Given the description of an element on the screen output the (x, y) to click on. 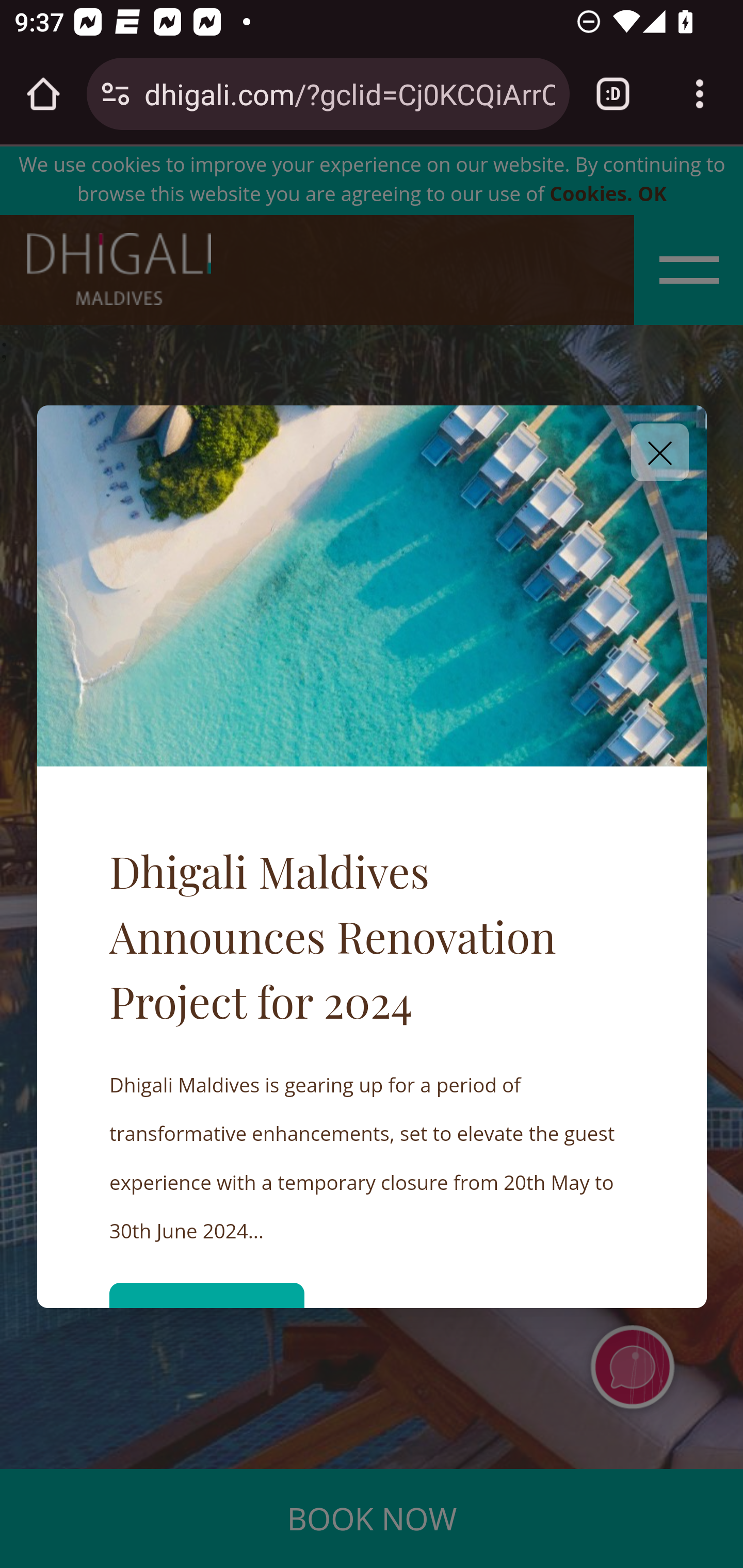
Open the home page (43, 93)
Connection is secure (115, 93)
Switch or close tabs (612, 93)
Customize and control Google Chrome (699, 93)
